Given the description of an element on the screen output the (x, y) to click on. 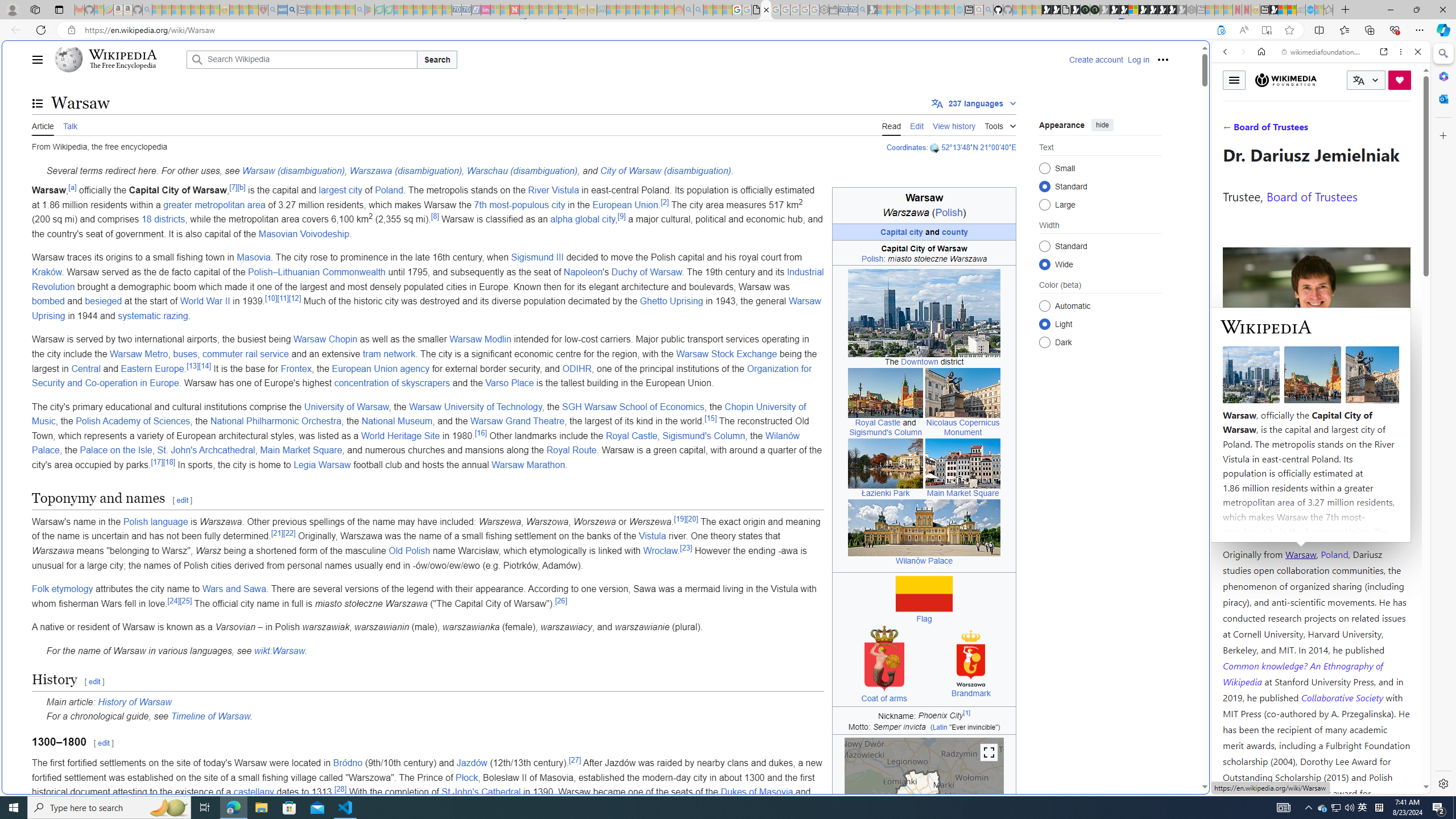
Ghetto Uprising (671, 301)
Personal tools (1162, 59)
castellany (253, 792)
Royal Castle and Sigismund's Column (885, 392)
[27] (574, 759)
Wikimedia Foundation (1285, 79)
